Given the description of an element on the screen output the (x, y) to click on. 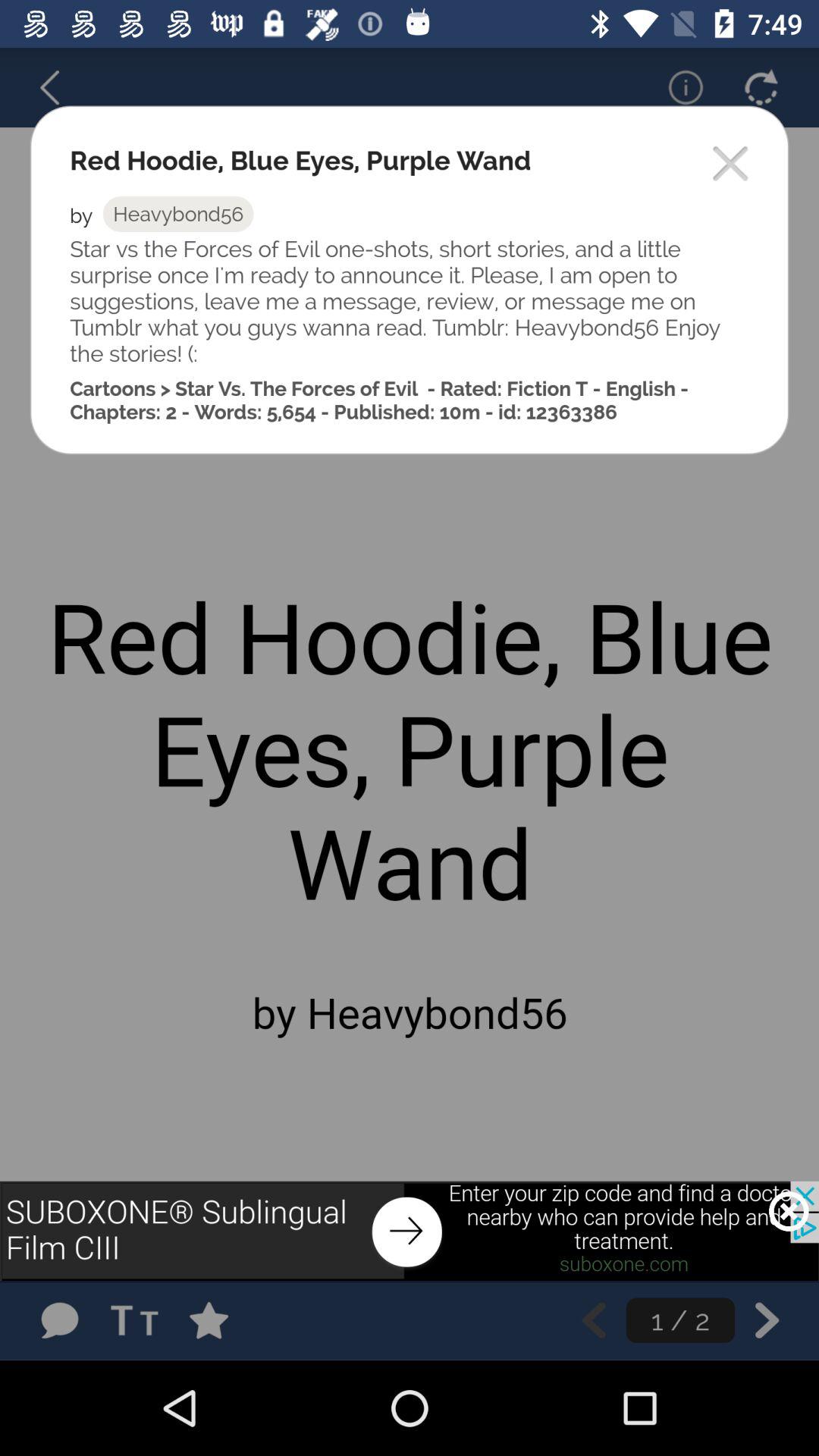
leave a comment (59, 1320)
